Given the description of an element on the screen output the (x, y) to click on. 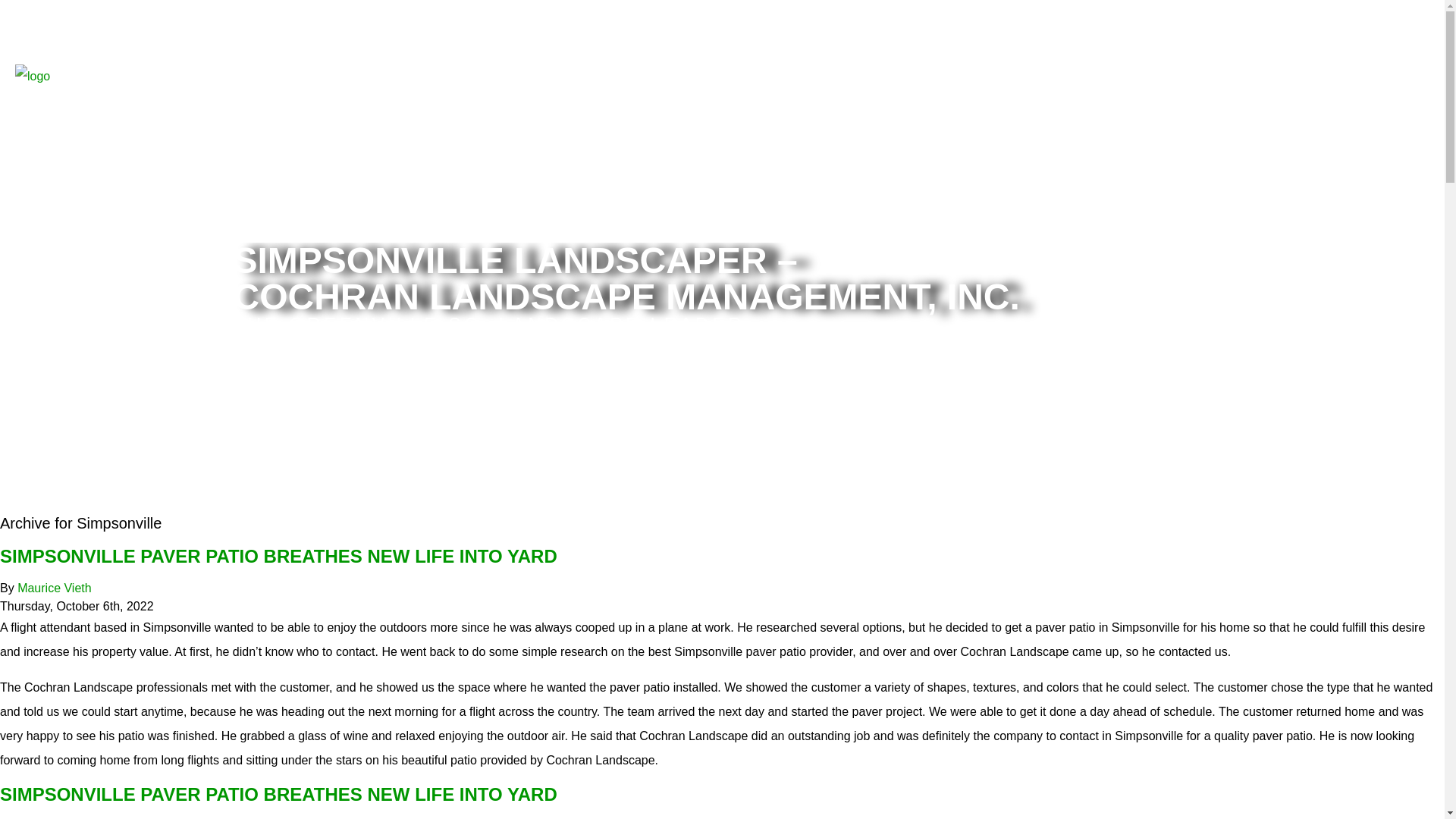
About (1130, 128)
Contact (1390, 128)
Home (1063, 128)
SIMPSONVILLE PAVER PATIO BREATHES NEW LIFE INTO YARD (278, 556)
SIMPSONVILLE PAVER PATIO BREATHES NEW LIFE INTO YARD (278, 793)
Testimonials (1299, 128)
Maurice Vieth (54, 587)
864.859.4004 (1345, 98)
Services (1204, 128)
Maurice Vieth (54, 587)
